Given the description of an element on the screen output the (x, y) to click on. 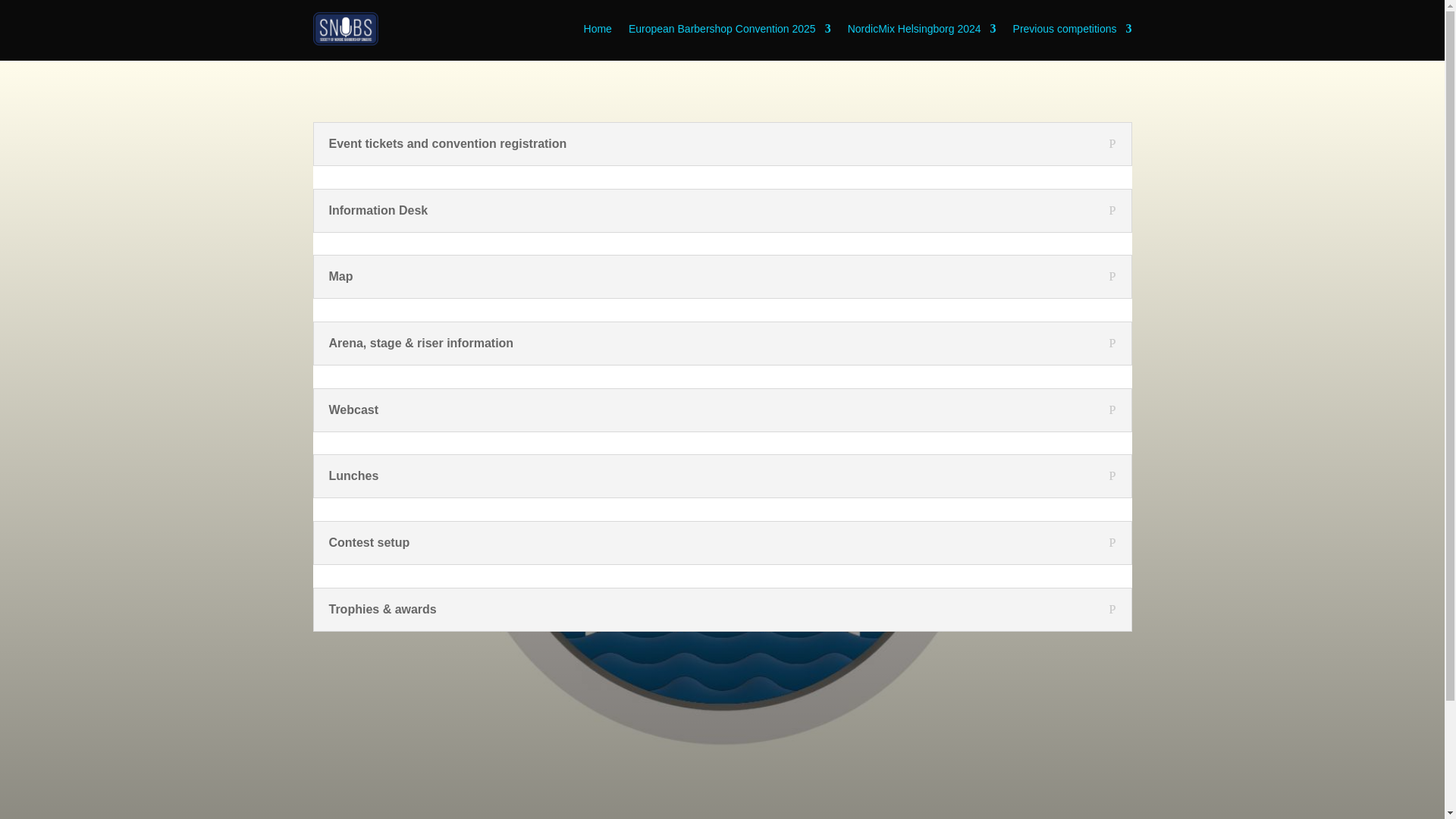
Previous competitions (1072, 28)
European Barbershop Convention 2025 (729, 28)
NordicMix Helsingborg 2024 (921, 28)
